Given the description of an element on the screen output the (x, y) to click on. 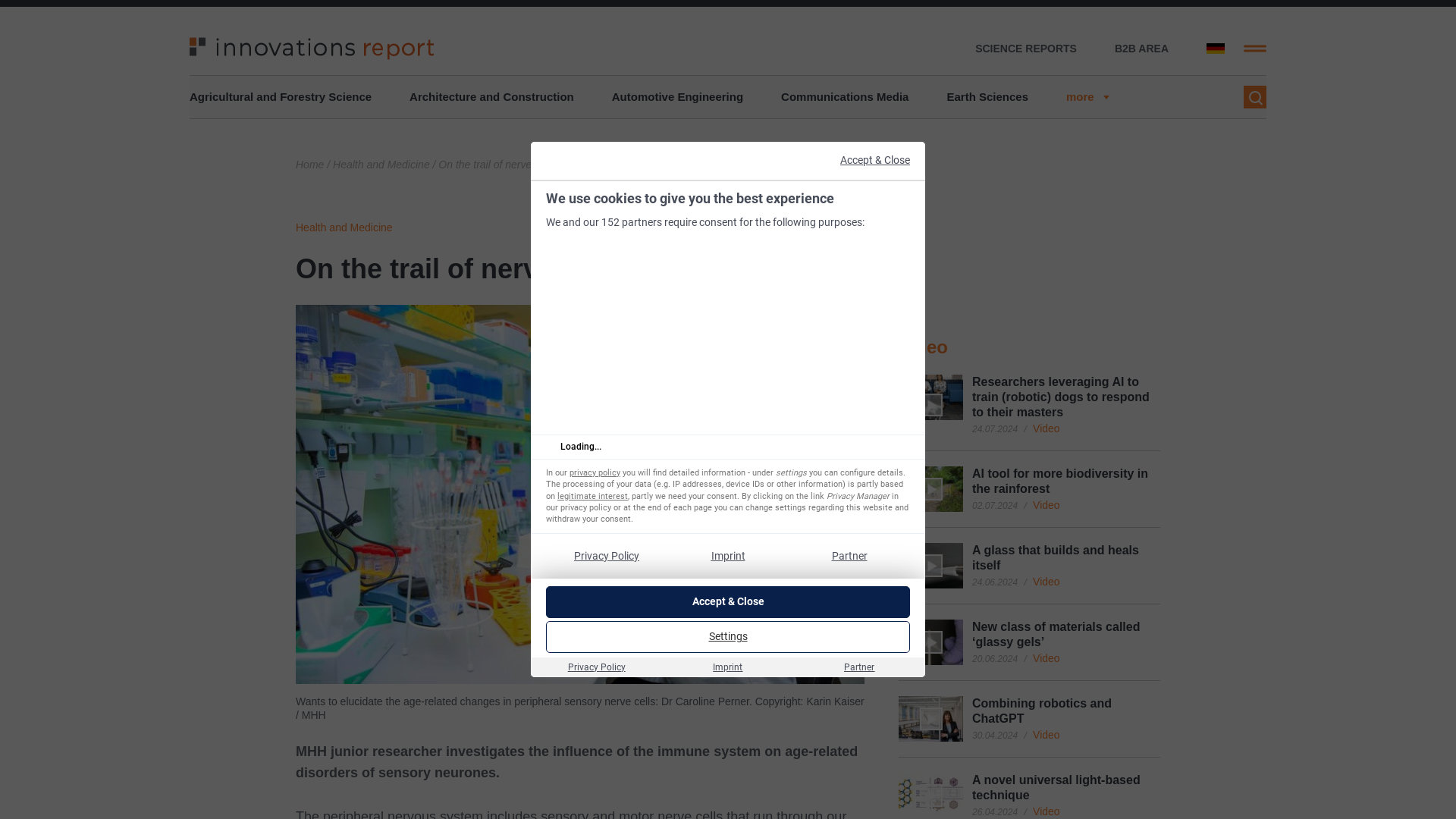
Agricultural and Forestry Science (280, 96)
Communications Media (844, 96)
Architecture and Construction (491, 96)
SCIENCE REPORTS (1026, 48)
Earth Sciences (986, 96)
B2B AREA (1142, 48)
Automotive Engineering (676, 96)
